Given the description of an element on the screen output the (x, y) to click on. 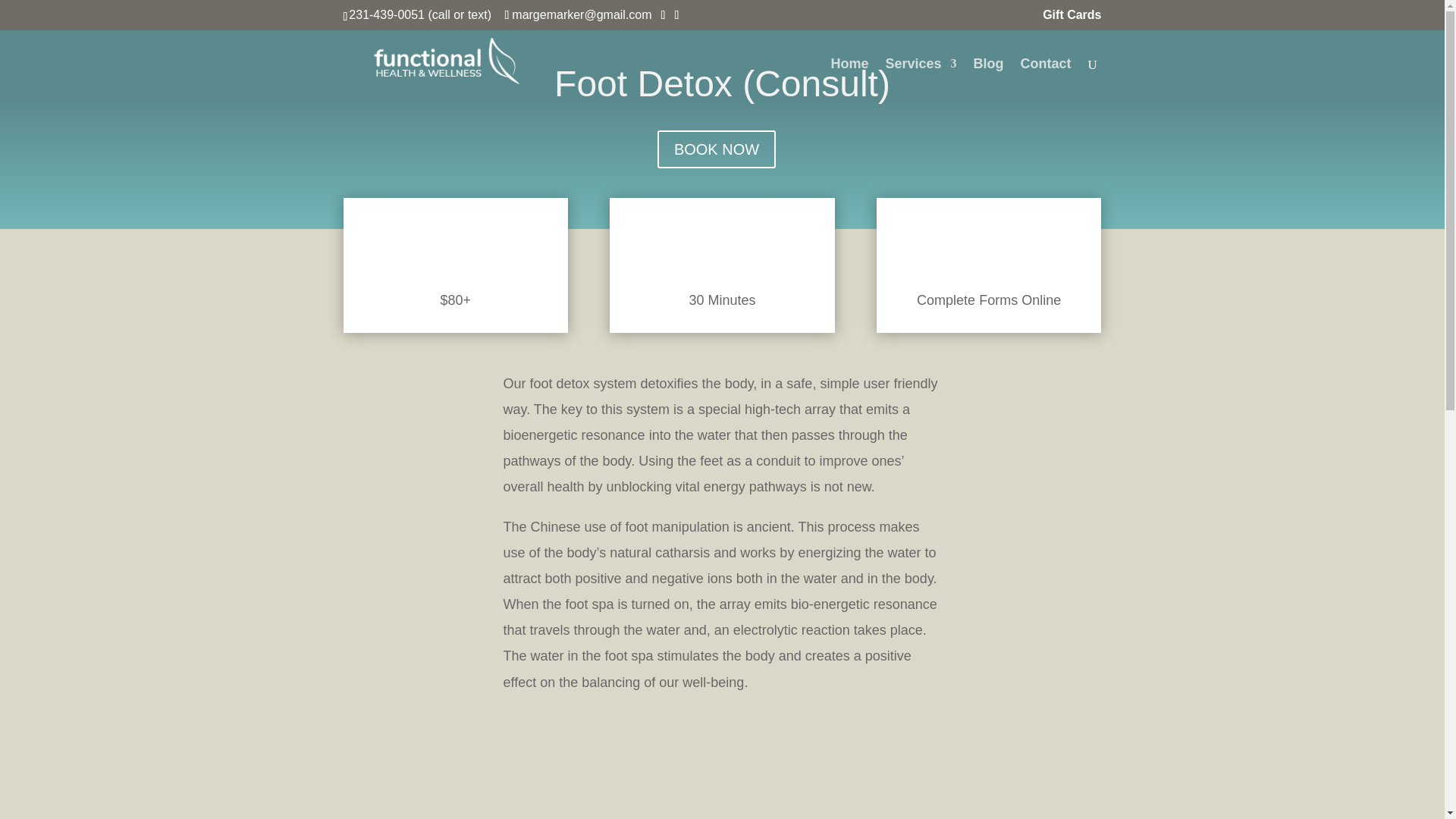
Gift Cards (1071, 19)
BOOK NOW (717, 149)
Contact (1045, 81)
Services (920, 81)
